Given the description of an element on the screen output the (x, y) to click on. 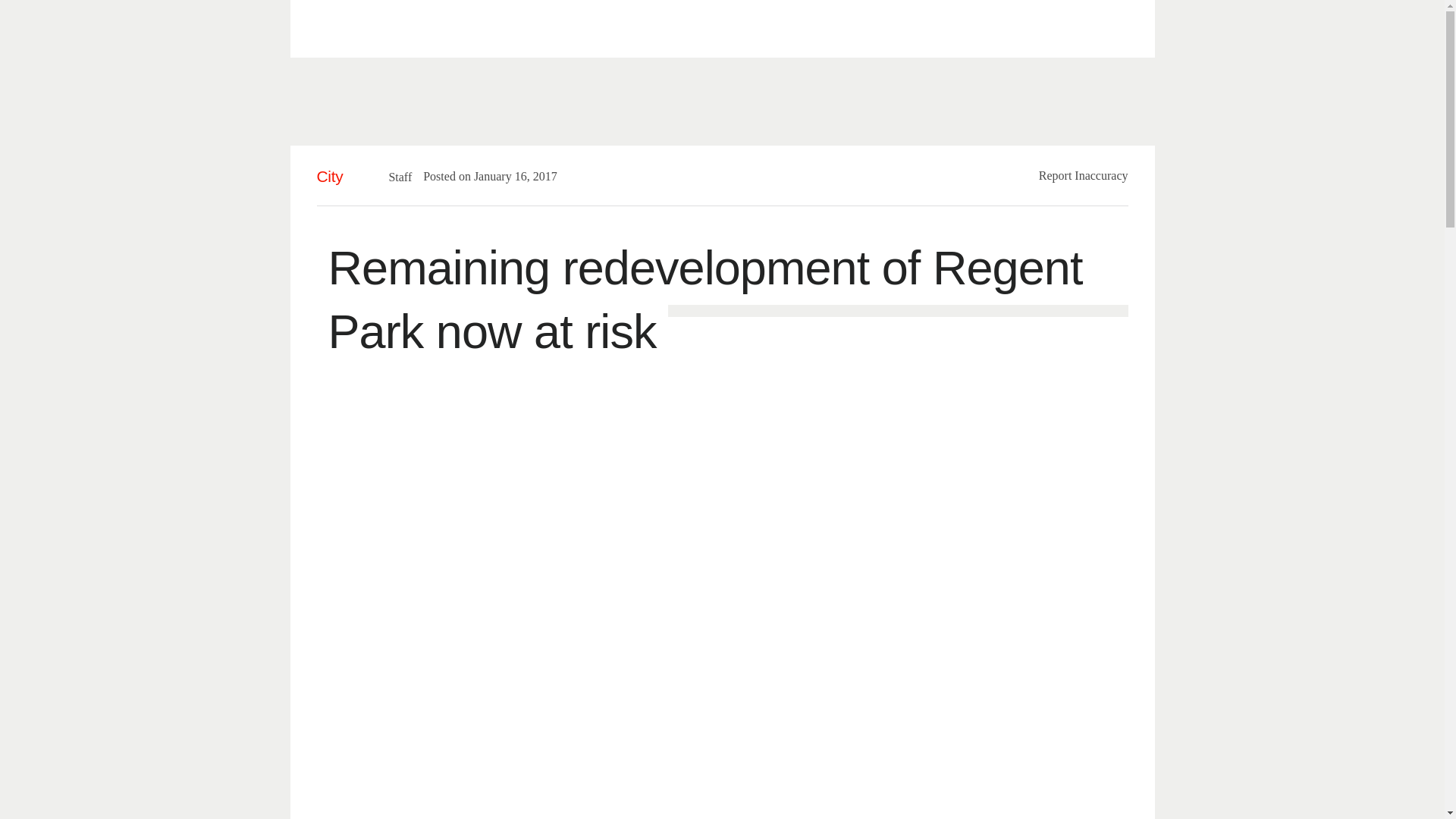
2017-01-16T08:34:56 (507, 175)
Report Inaccuracy (1083, 174)
City (330, 175)
